Given the description of an element on the screen output the (x, y) to click on. 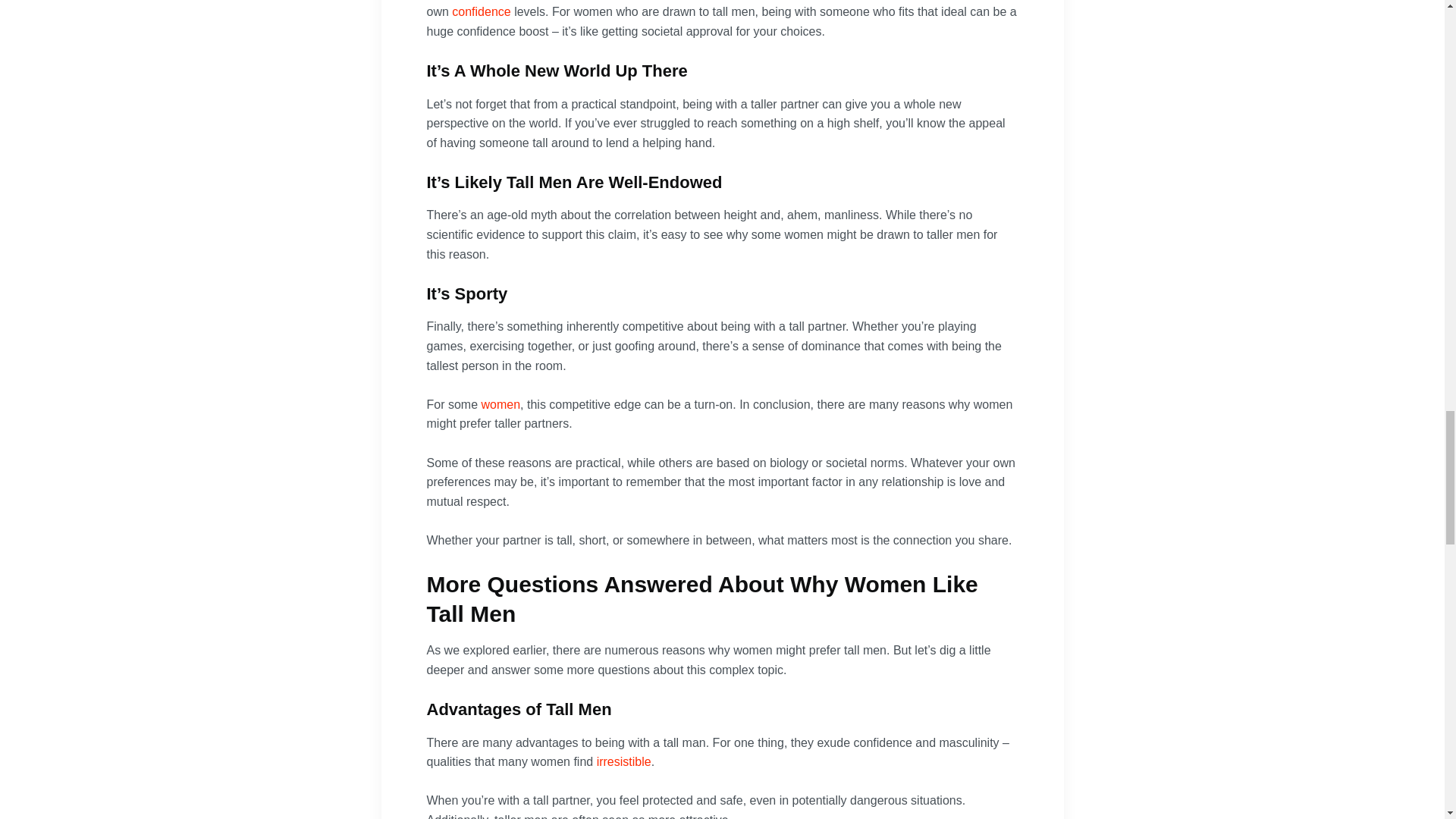
women (501, 404)
irresistible (623, 761)
confidence (481, 11)
